Given the description of an element on the screen output the (x, y) to click on. 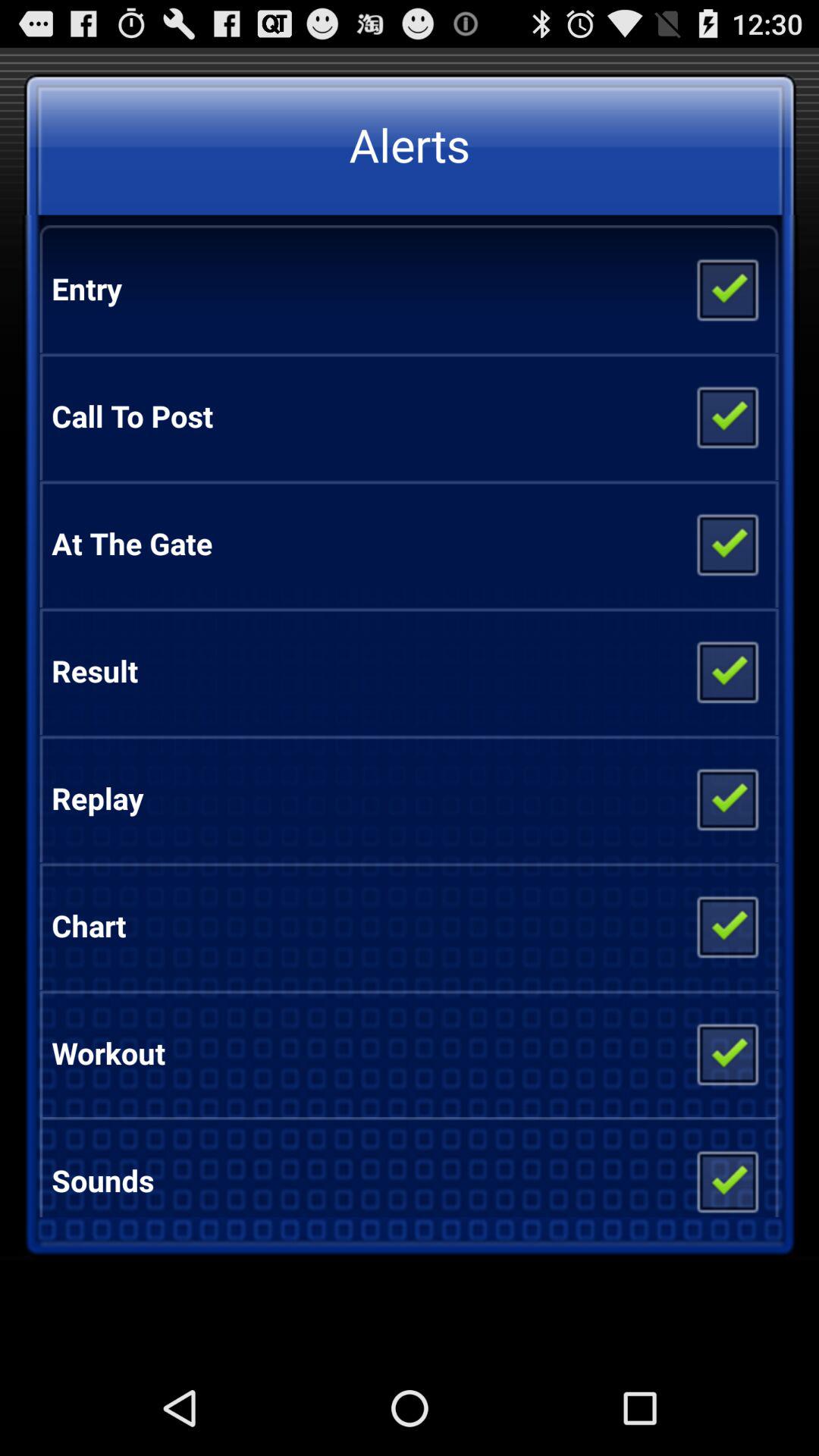
unclick (726, 1174)
